Given the description of an element on the screen output the (x, y) to click on. 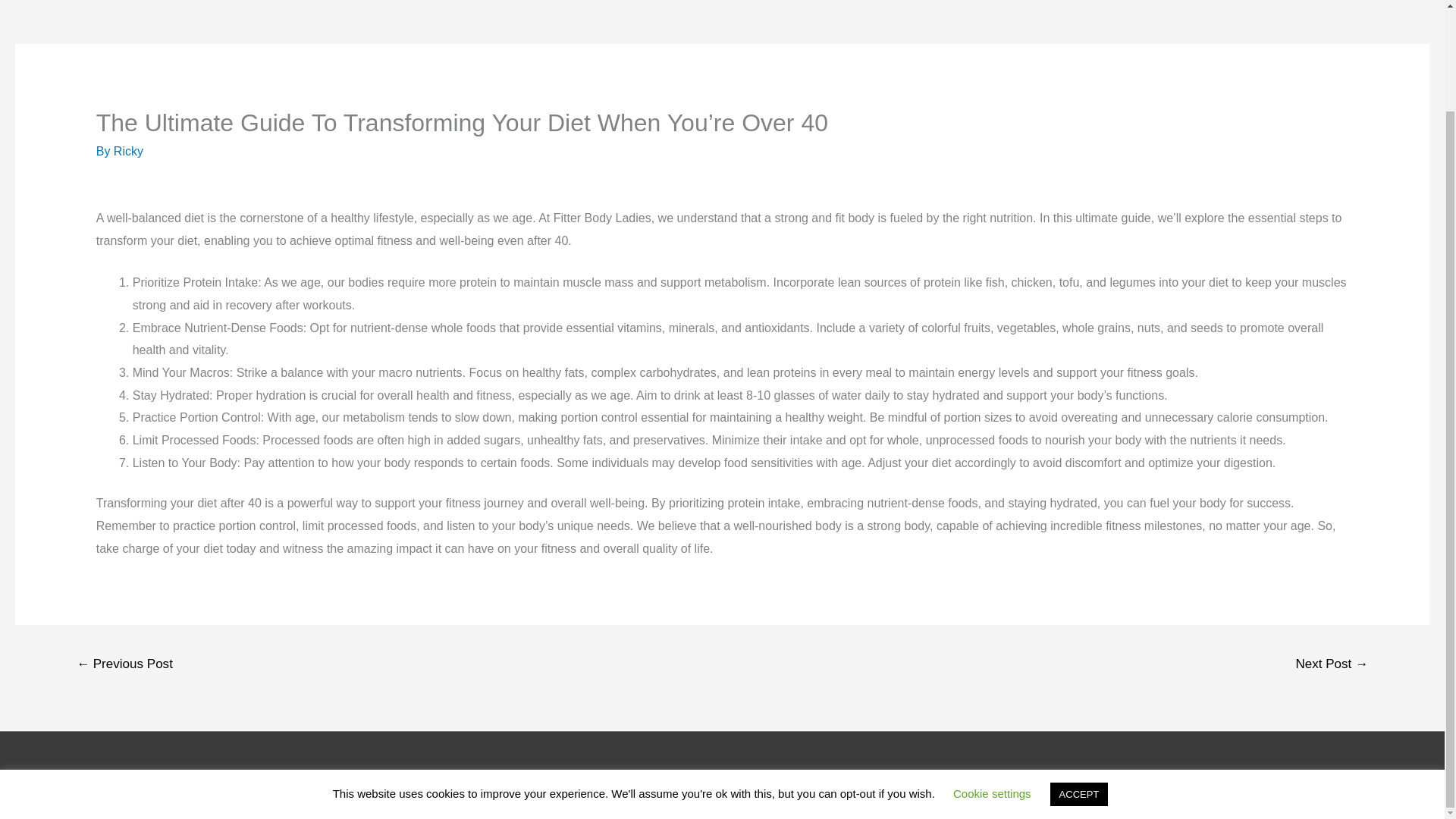
ACCEPT (1078, 676)
View all posts by Ricky (127, 151)
MyPtWebsite (857, 774)
Cookie settings (991, 675)
Ricky (127, 151)
